Given the description of an element on the screen output the (x, y) to click on. 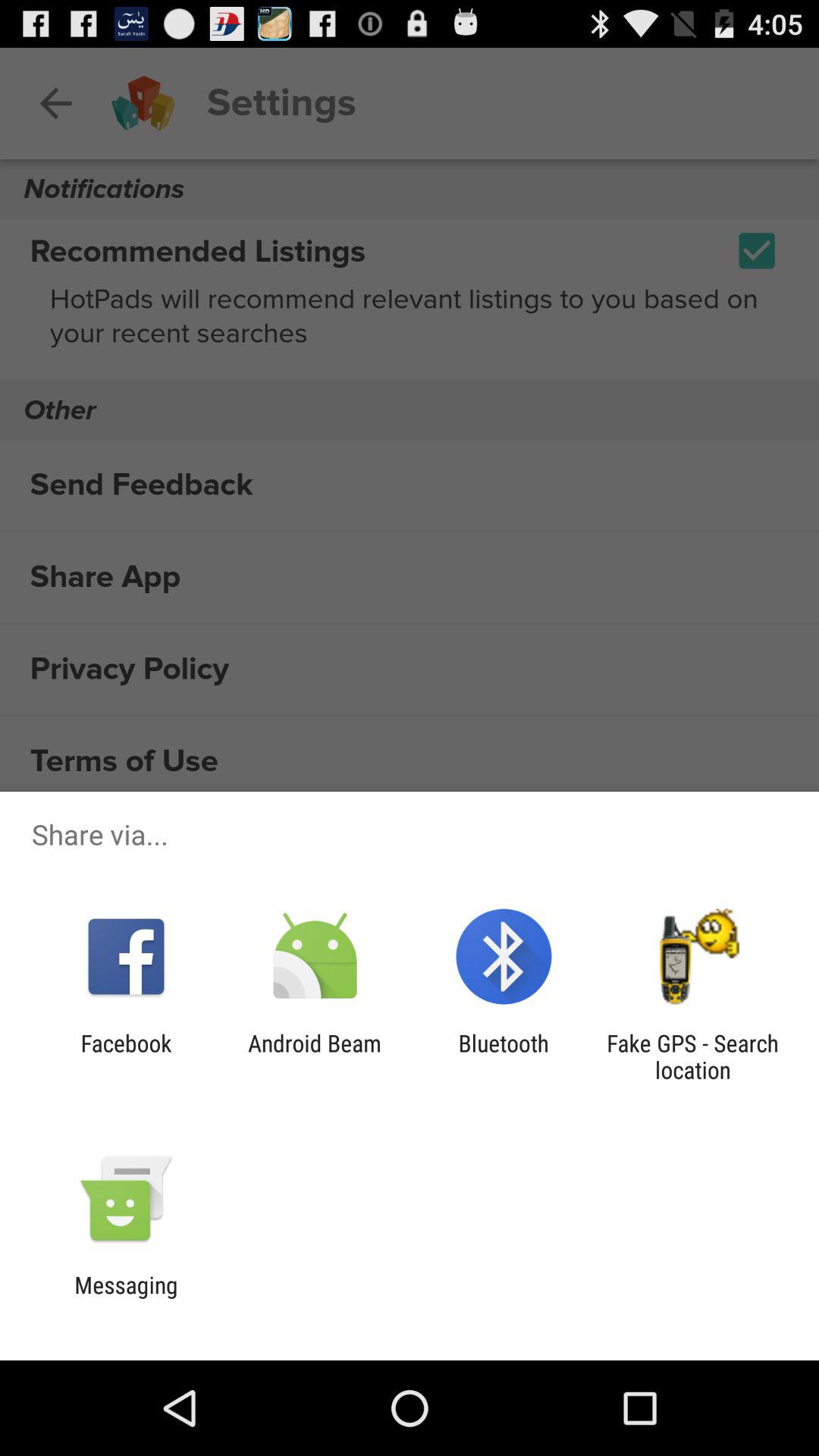
flip until the fake gps search item (692, 1056)
